Given the description of an element on the screen output the (x, y) to click on. 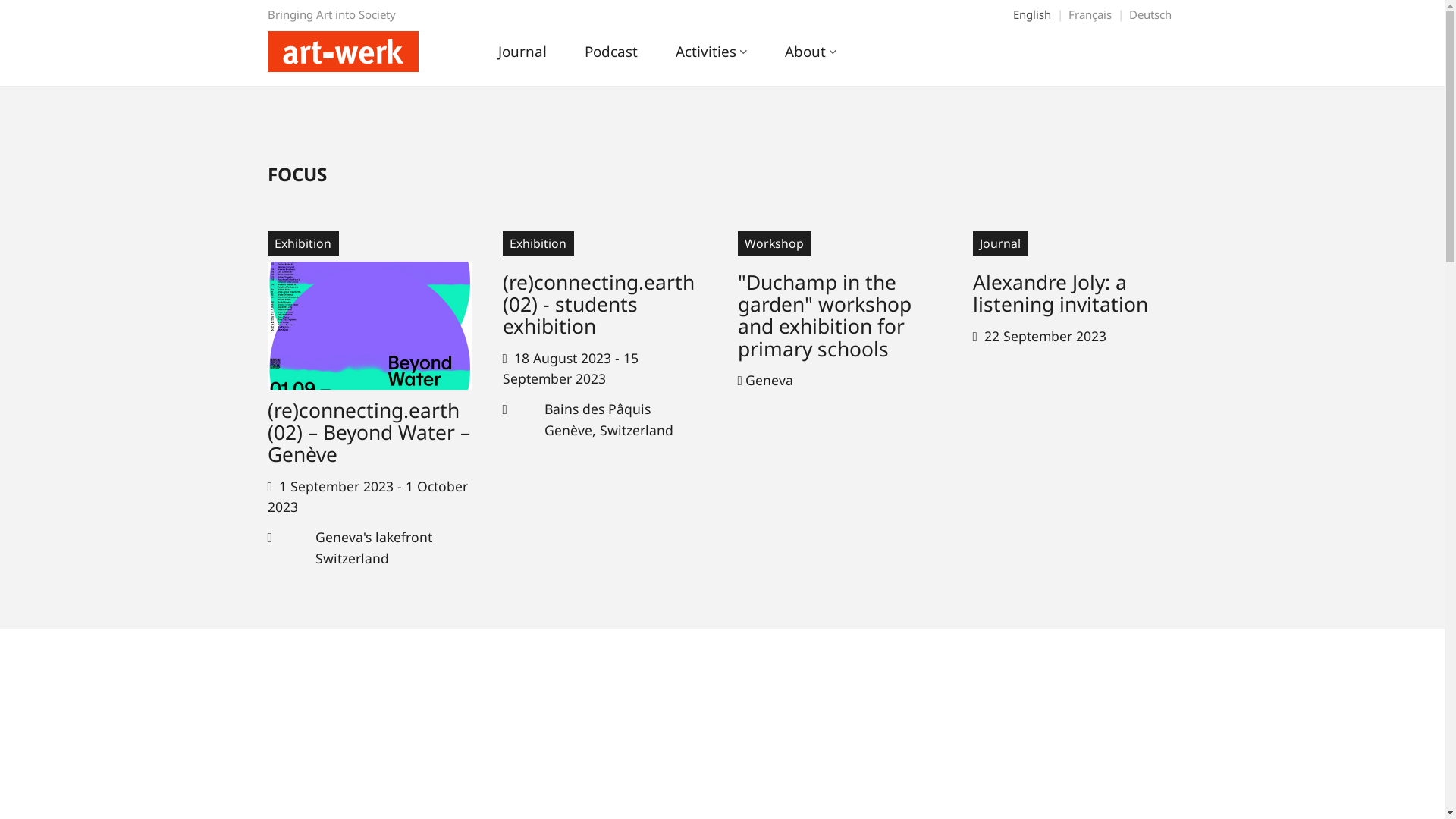
English Element type: text (1031, 14)
About Element type: text (810, 58)
Journal Element type: text (522, 58)
Podcast Element type: text (610, 58)
Deutsch Element type: text (1150, 14)
Activities Element type: text (710, 58)
